Given the description of an element on the screen output the (x, y) to click on. 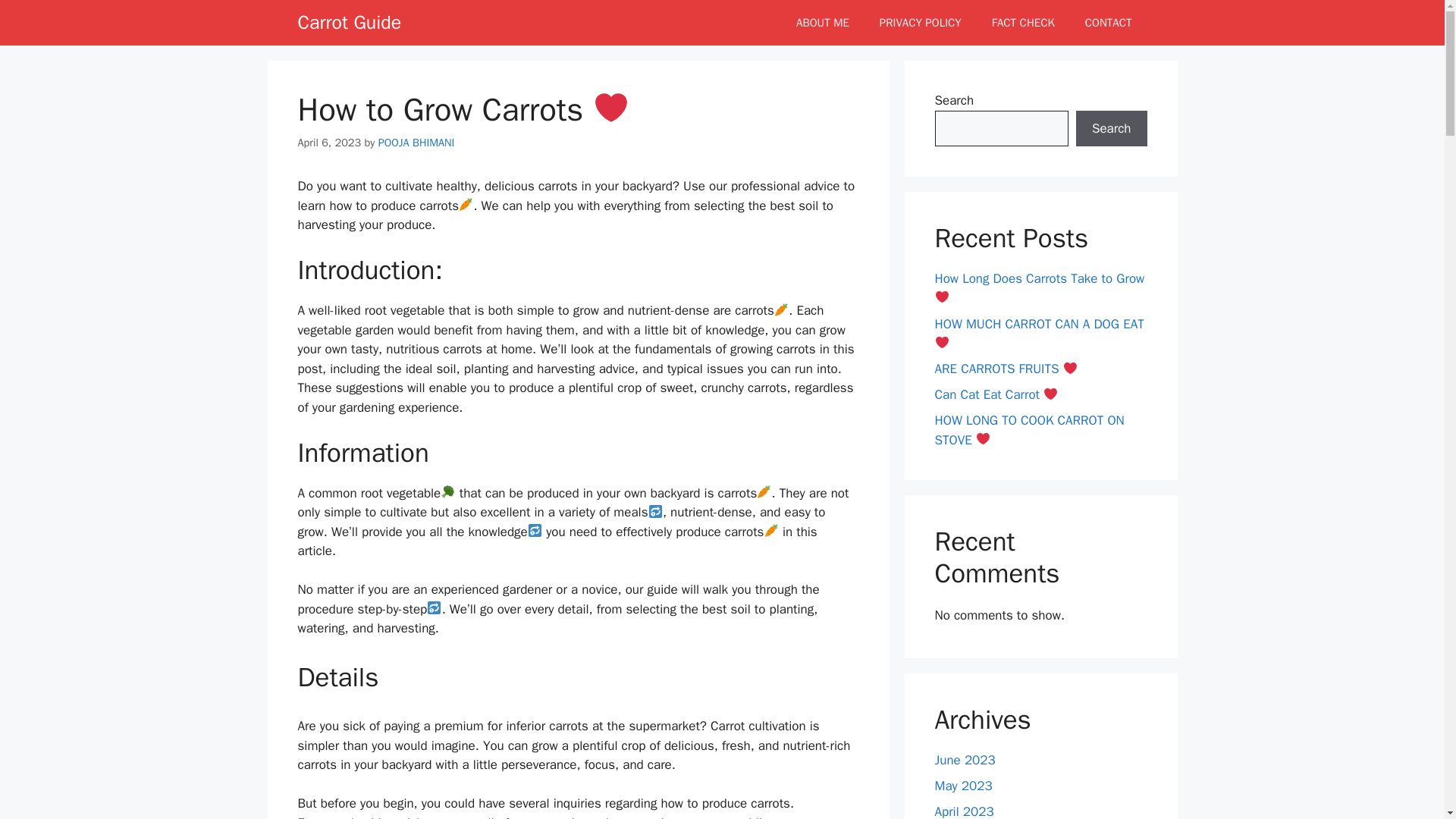
June 2023 (964, 760)
CONTACT (1108, 22)
ABOUT ME (822, 22)
Carrot Guide (349, 22)
May 2023 (962, 785)
HOW MUCH CARROT CAN A DOG EAT (1038, 333)
Search (1111, 128)
View all posts by POOJA BHIMANI (416, 142)
FACT CHECK (1023, 22)
POOJA BHIMANI (416, 142)
HOW LONG TO COOK CARROT ON STOVE (1029, 429)
April 2023 (963, 811)
How Long Does Carrots Take to Grow (1039, 288)
PRIVACY POLICY (920, 22)
ARE CARROTS FRUITS (1005, 368)
